Given the description of an element on the screen output the (x, y) to click on. 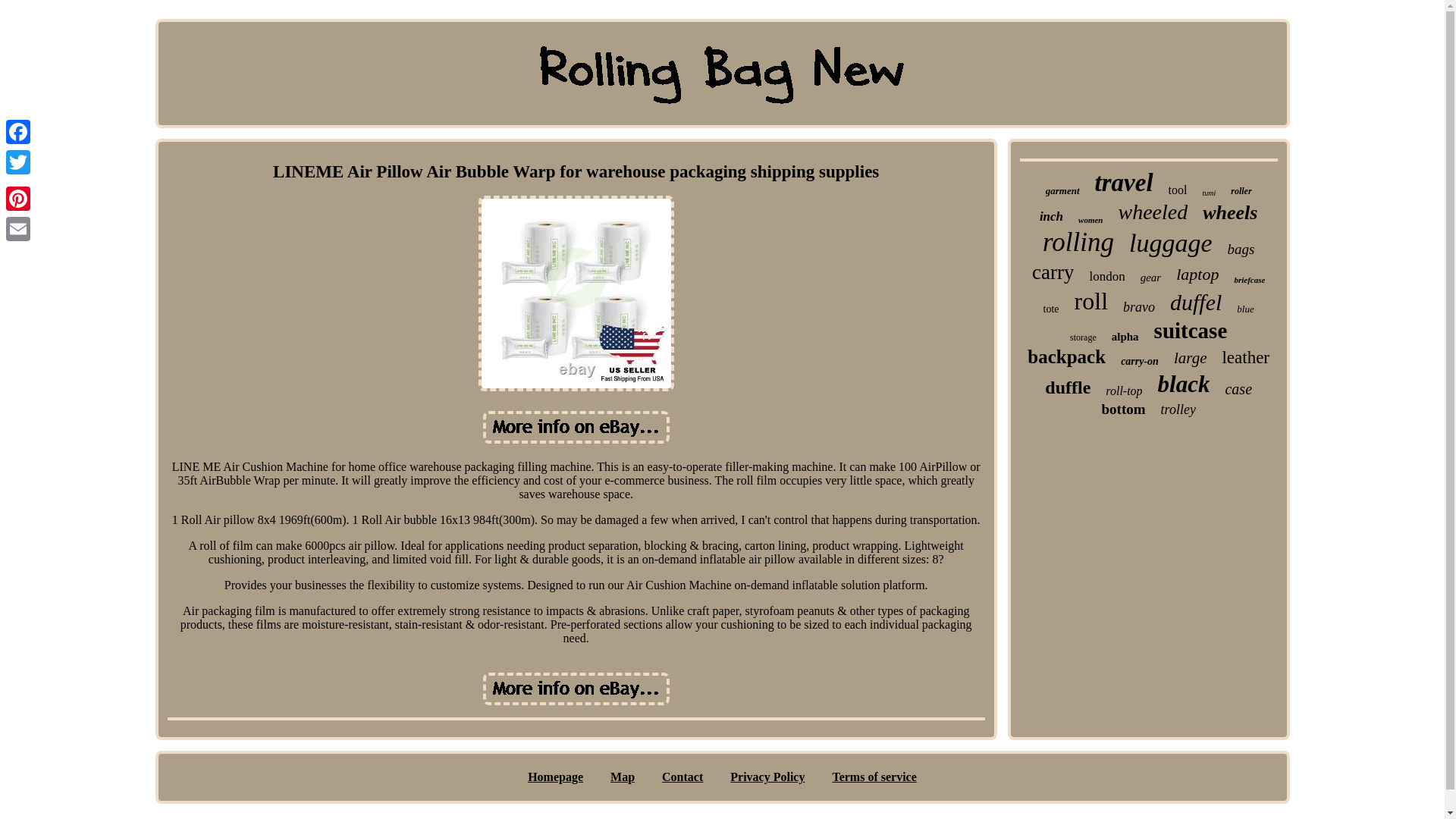
roll (1091, 301)
bags (1240, 248)
inch (1050, 216)
storage (1083, 337)
Facebook (17, 132)
duffel (1195, 302)
backpack (1066, 356)
blue (1244, 309)
briefcase (1249, 279)
travel (1123, 182)
